Given the description of an element on the screen output the (x, y) to click on. 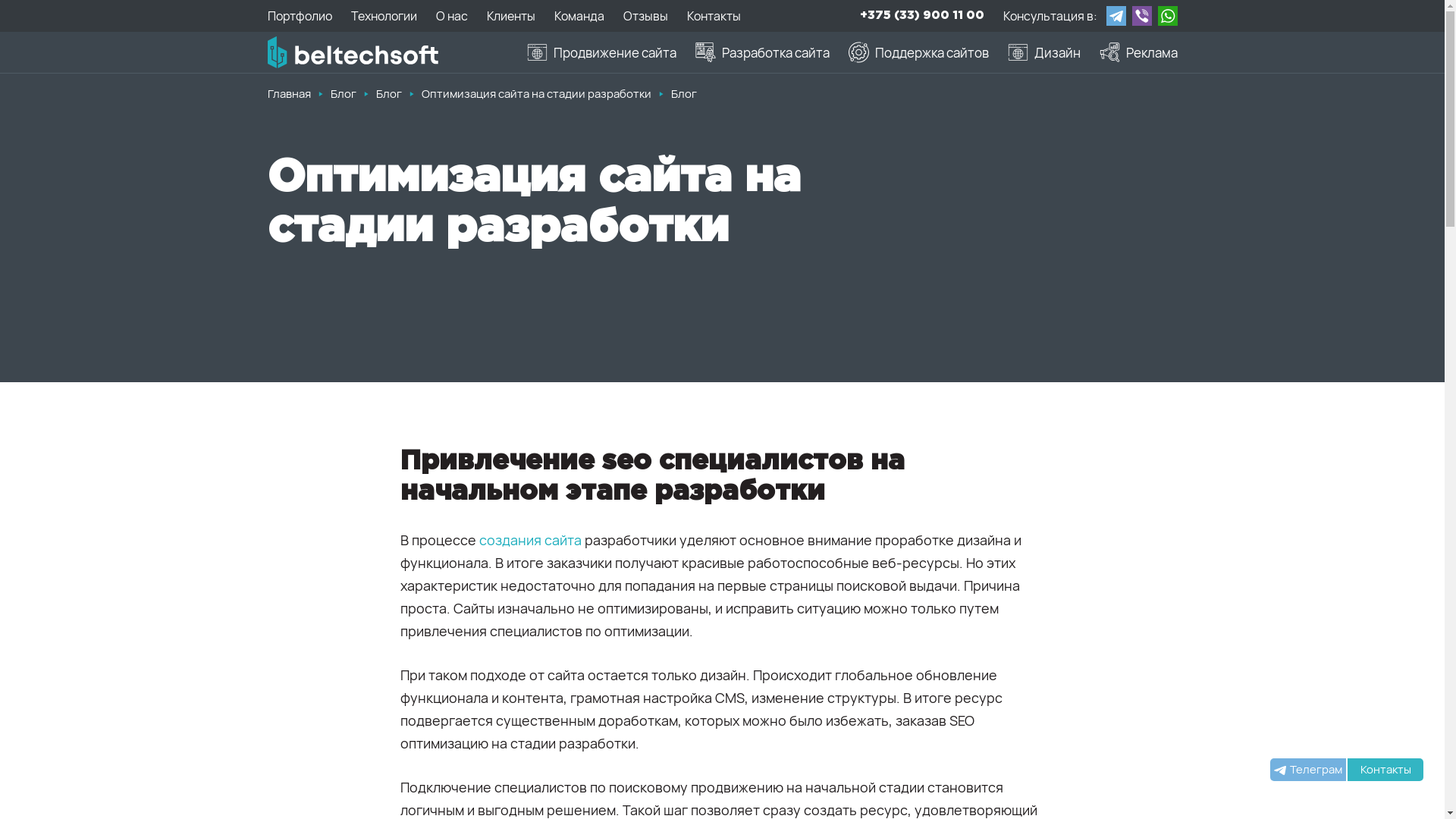
+375 (33) 900 11 00 Element type: text (921, 15)
